Given the description of an element on the screen output the (x, y) to click on. 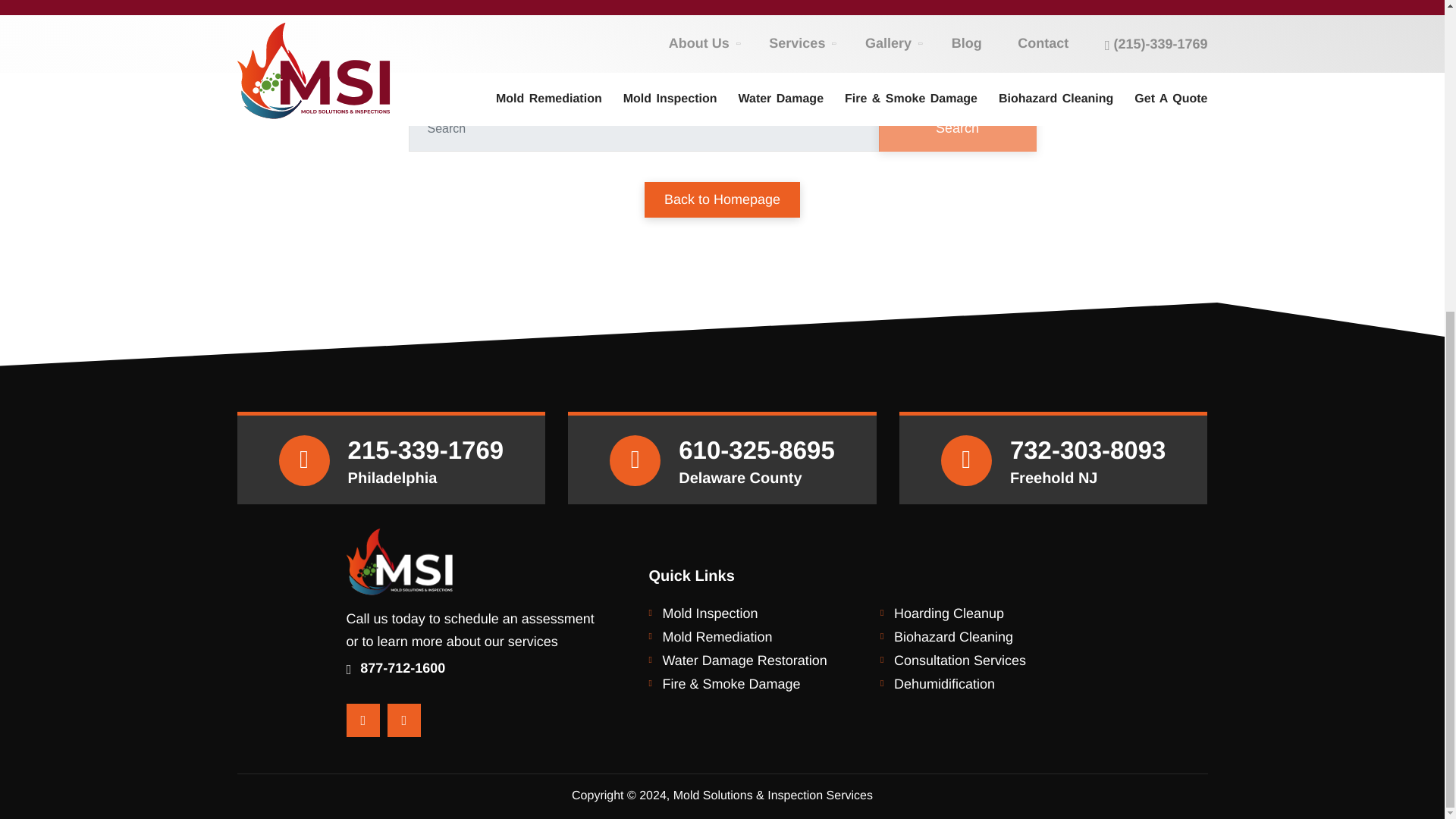
Search (956, 128)
